Given the description of an element on the screen output the (x, y) to click on. 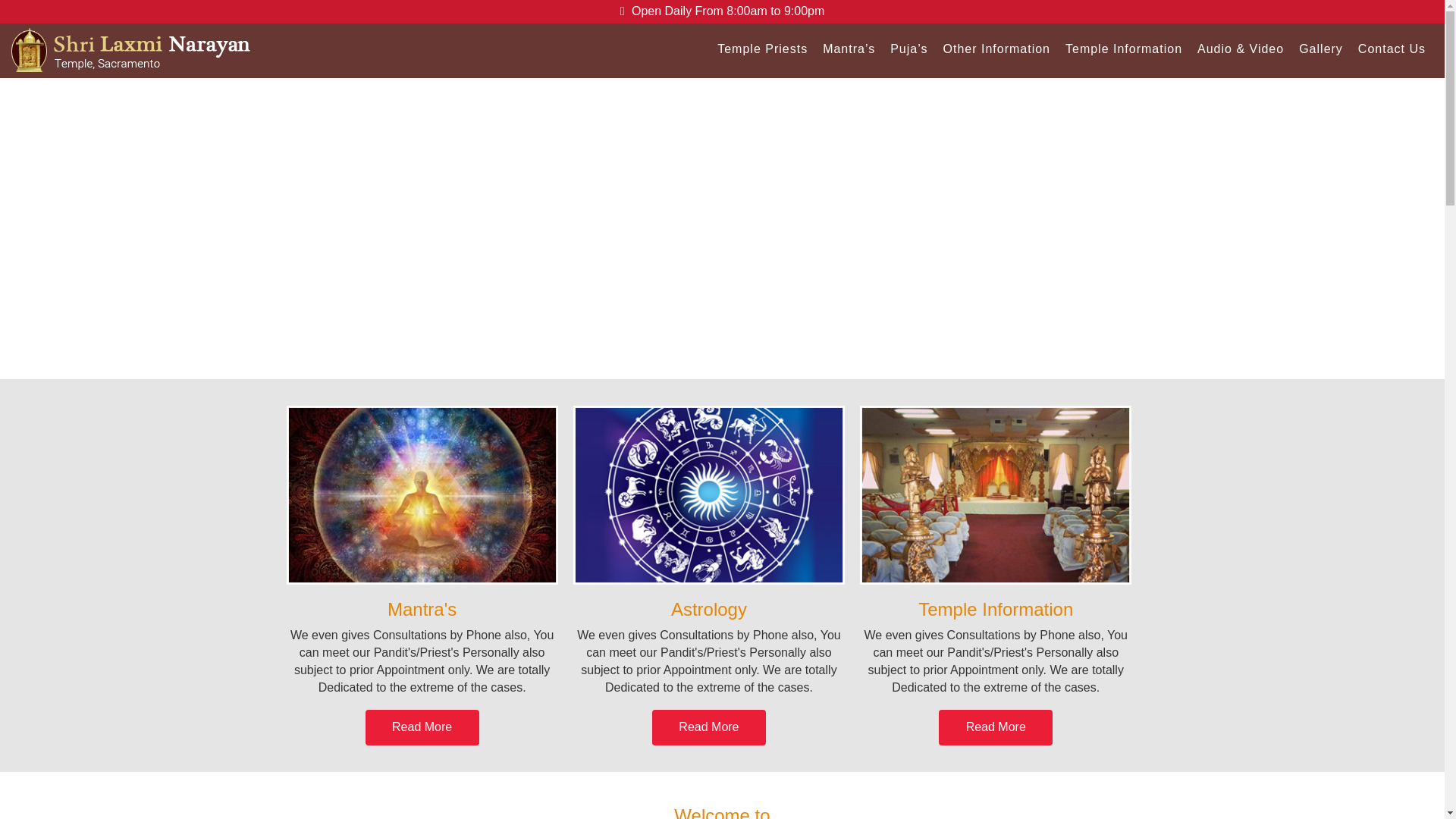
Contact Us (1391, 49)
Read More (996, 727)
Temple Information (1123, 49)
Read More (708, 727)
Read More (421, 727)
Other Information (996, 49)
Temple Priests (762, 49)
Gallery (1321, 49)
